Given the description of an element on the screen output the (x, y) to click on. 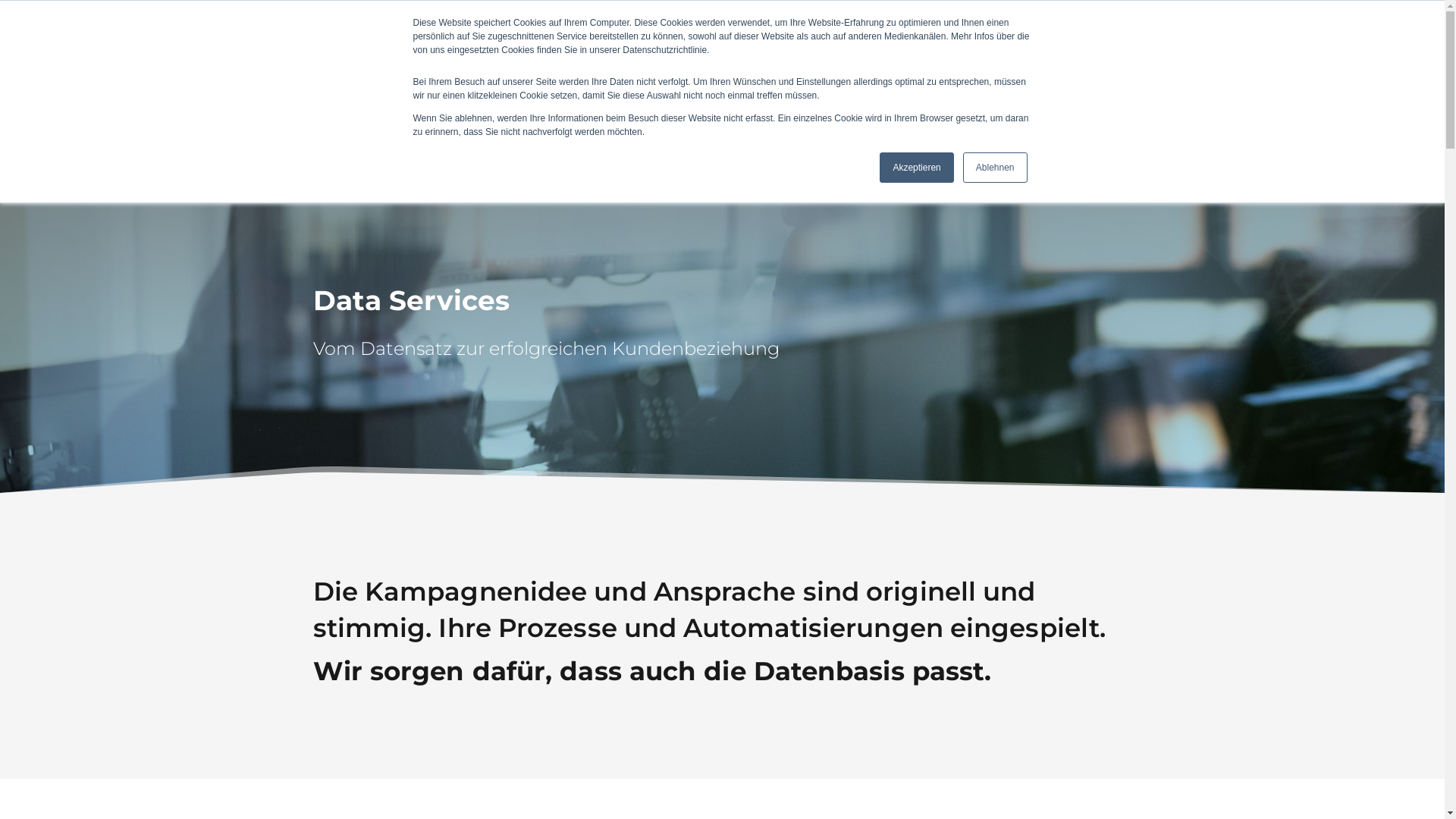
Kontakt Element type: text (1002, 59)
Ablehnen Element type: text (995, 167)
Newsletter Element type: text (1091, 59)
Services Element type: text (728, 59)
Jobs Element type: text (880, 59)
Blog Element type: text (935, 59)
Akzeptieren Element type: text (916, 167)
